Given the description of an element on the screen output the (x, y) to click on. 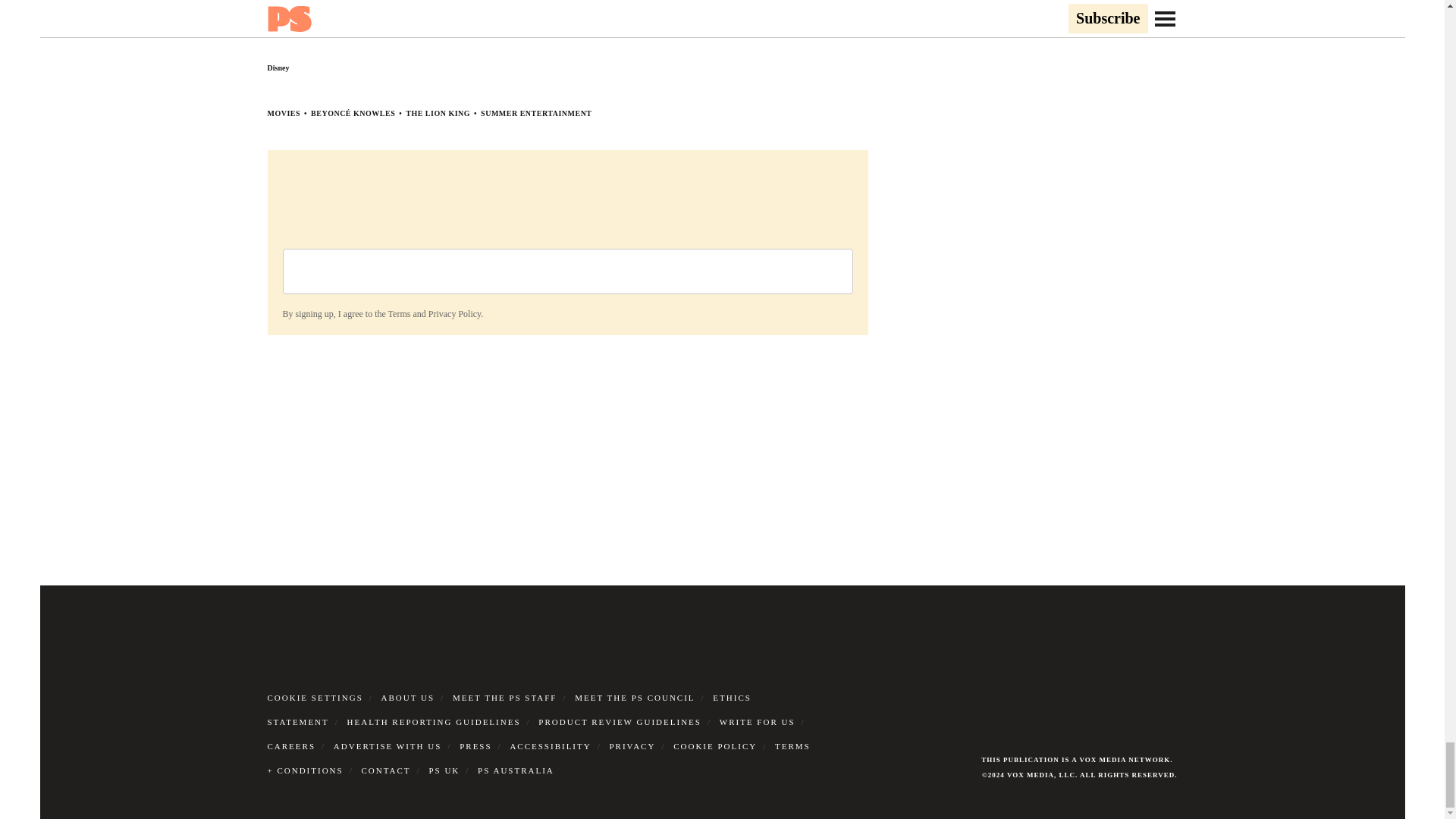
Disney (277, 67)
Privacy Policy. (455, 313)
MOVIES (282, 112)
THE LION KING (438, 112)
SUMMER ENTERTAINMENT (535, 112)
Terms (399, 313)
